Given the description of an element on the screen output the (x, y) to click on. 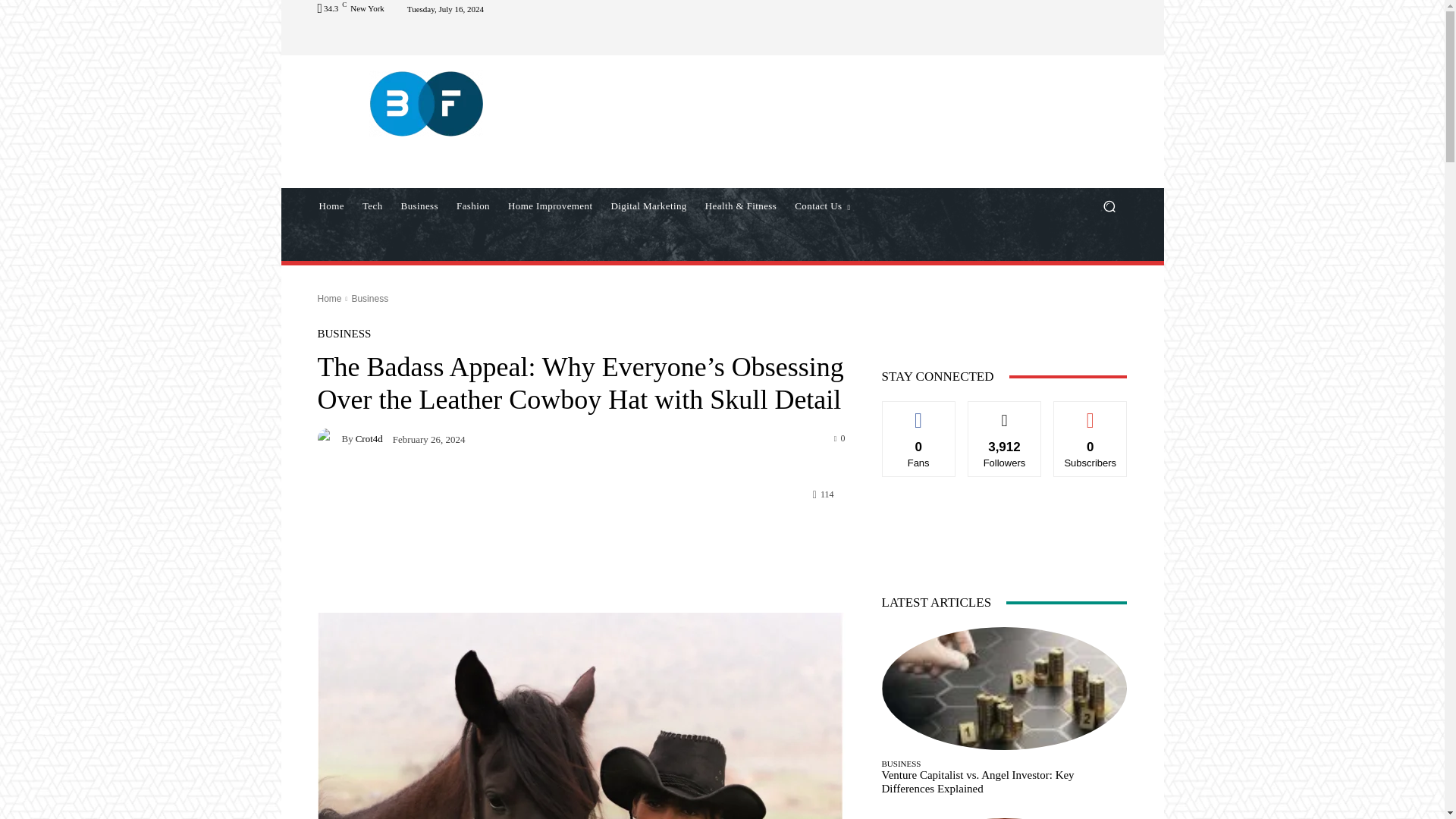
Tech (372, 206)
Fashion (472, 206)
View all posts in Business (369, 298)
Crot4d (328, 437)
Digital Marketing (648, 206)
Contact Us (822, 206)
Screenshot 2024-02-25 232333 (580, 715)
Home (330, 206)
Home Improvement (550, 206)
Business (418, 206)
